Given the description of an element on the screen output the (x, y) to click on. 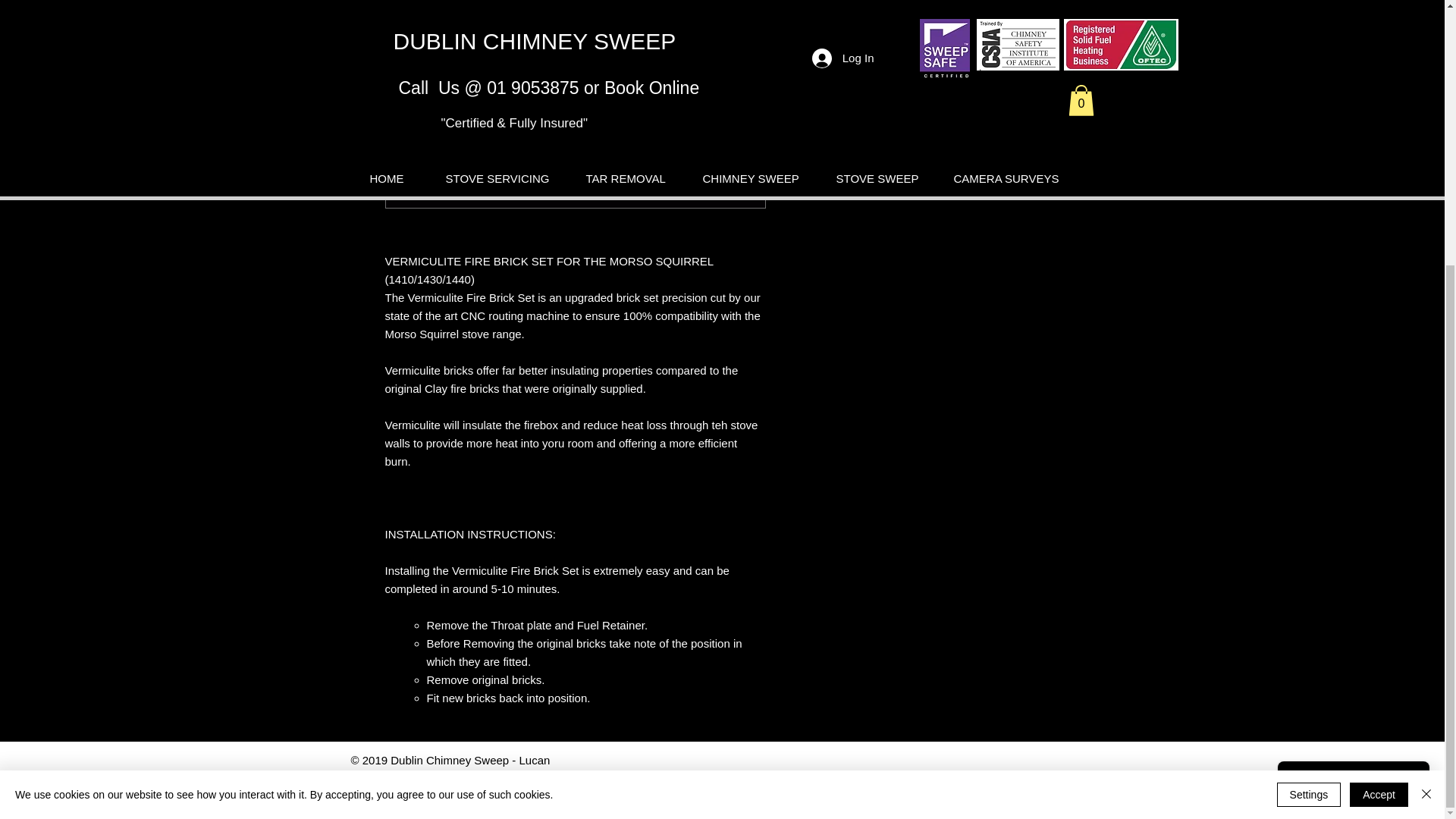
Add to Cart (924, 92)
1 (818, 38)
Accept (1378, 410)
Settings (1308, 410)
